Given the description of an element on the screen output the (x, y) to click on. 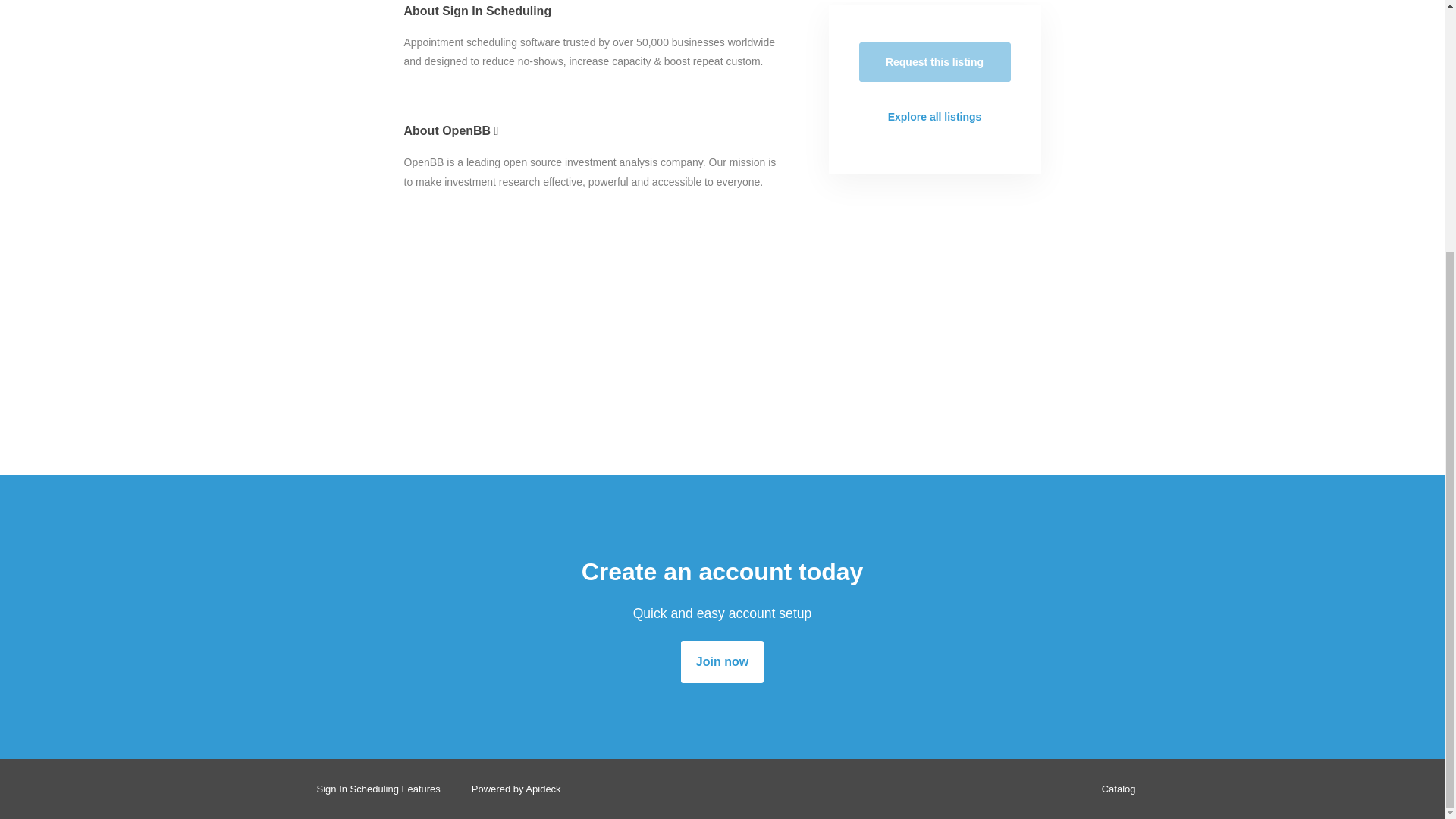
Powered by Apideck (512, 789)
Sign In Scheduling Features (374, 789)
Catalog (1115, 789)
Explore all listings (934, 116)
Join now (721, 661)
Request this listing (934, 61)
